Given the description of an element on the screen output the (x, y) to click on. 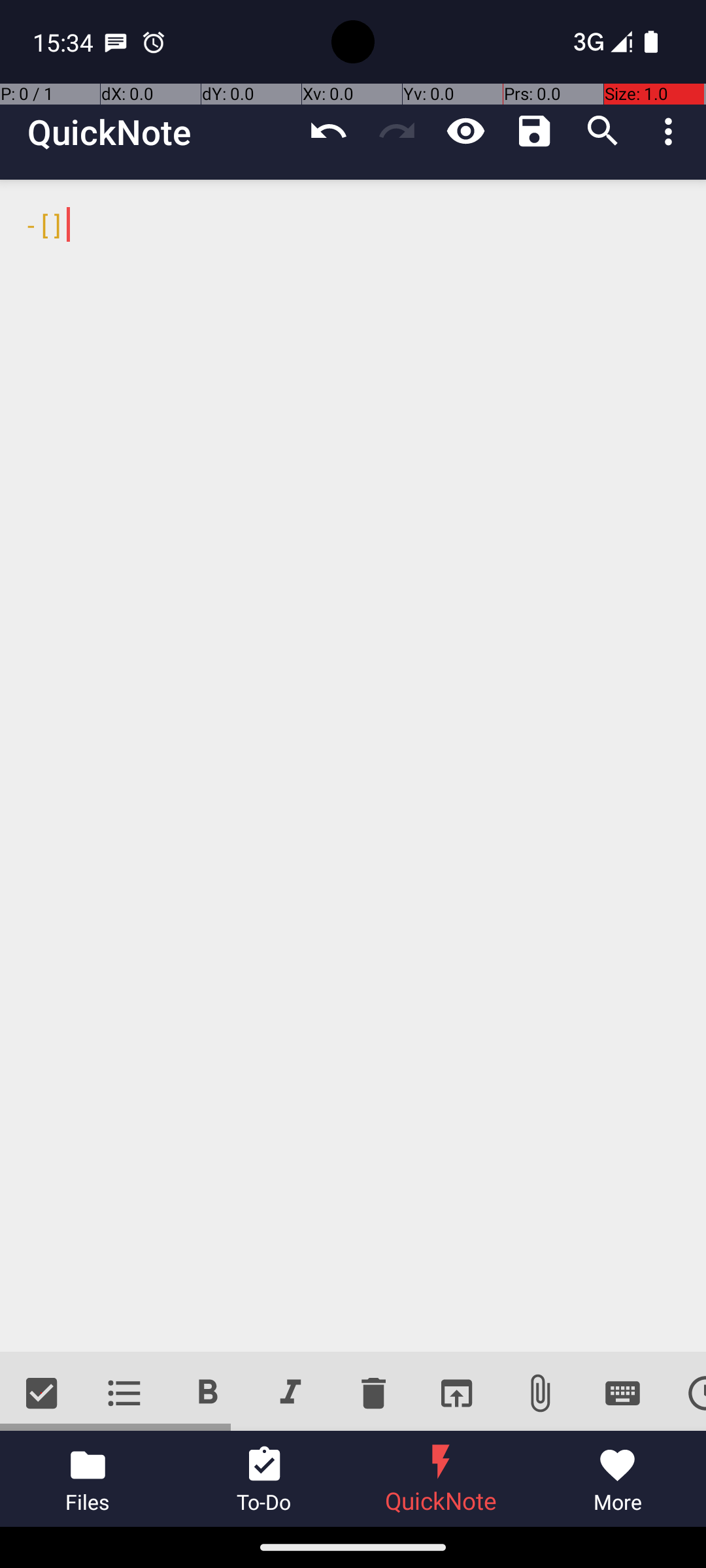
- [ ]  Element type: android.widget.EditText (353, 765)
